Given the description of an element on the screen output the (x, y) to click on. 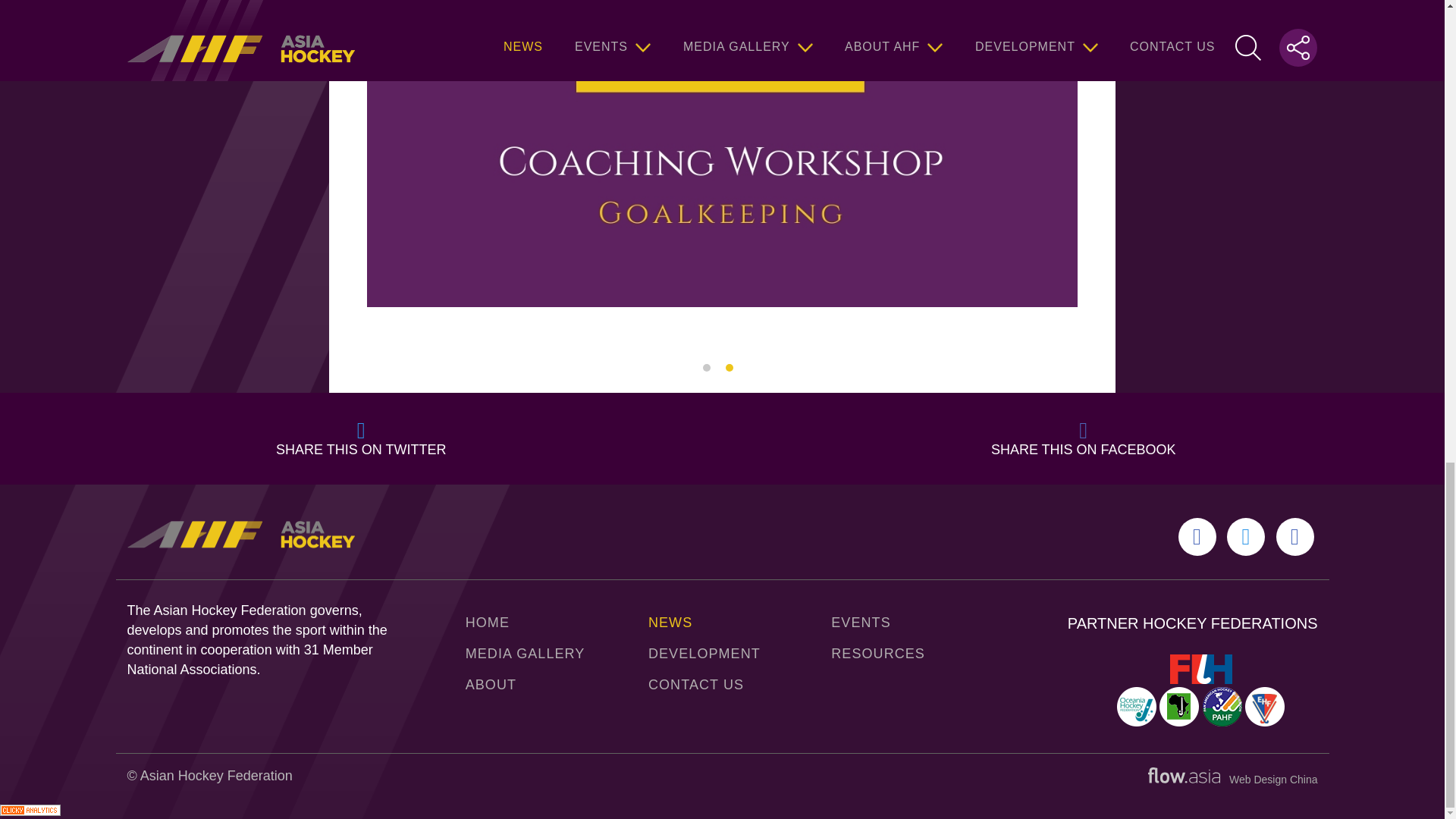
Real Time Analytics (30, 811)
Layer 1 (1184, 774)
